Given the description of an element on the screen output the (x, y) to click on. 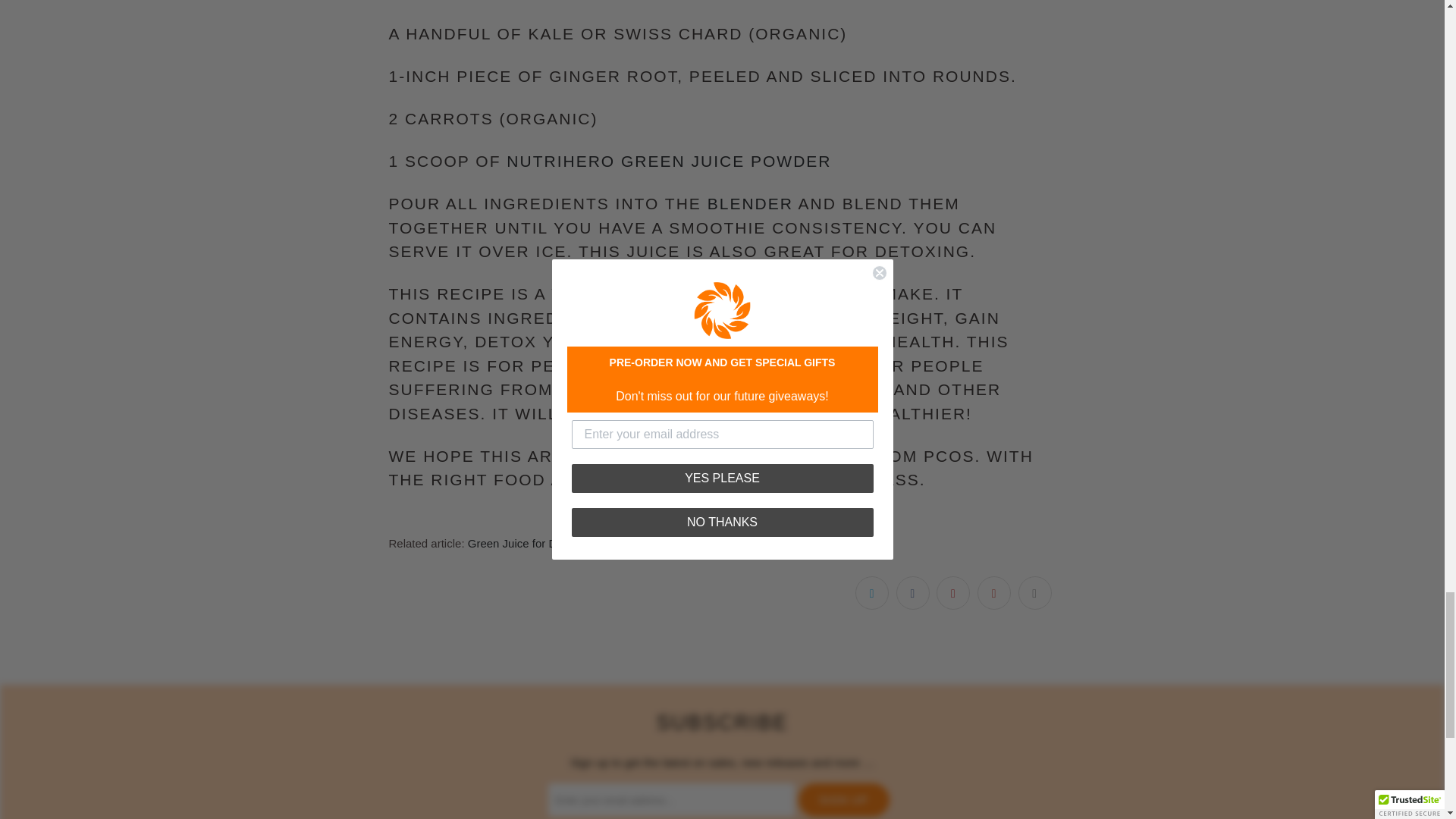
green juice for diabetics (601, 543)
Nutrihero Blender (750, 203)
Sign Up (842, 799)
Nutrihero Green Juice (668, 160)
Share this on Twitter (872, 592)
